Given the description of an element on the screen output the (x, y) to click on. 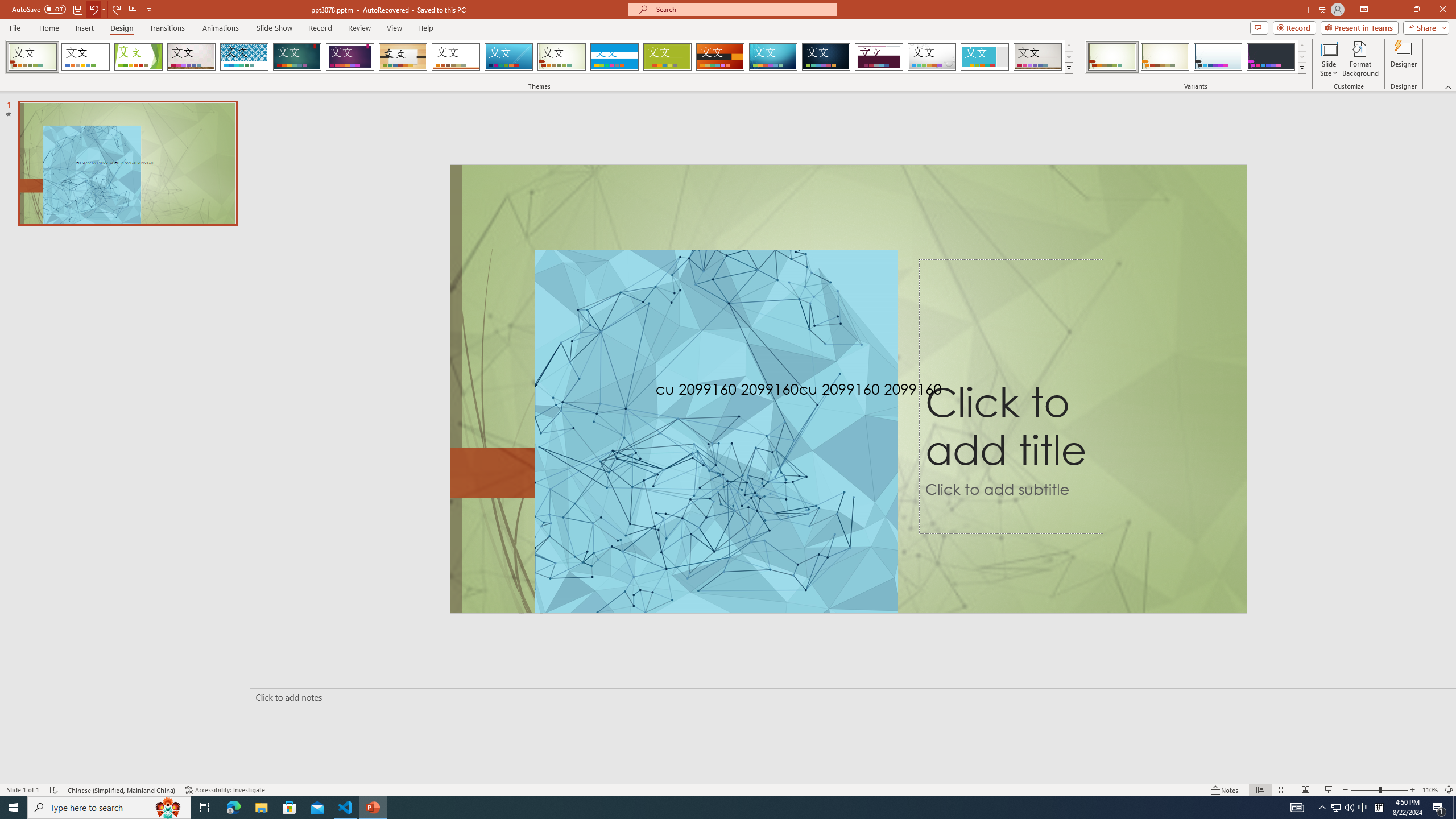
Frame (984, 56)
Organic (403, 56)
